Given the description of an element on the screen output the (x, y) to click on. 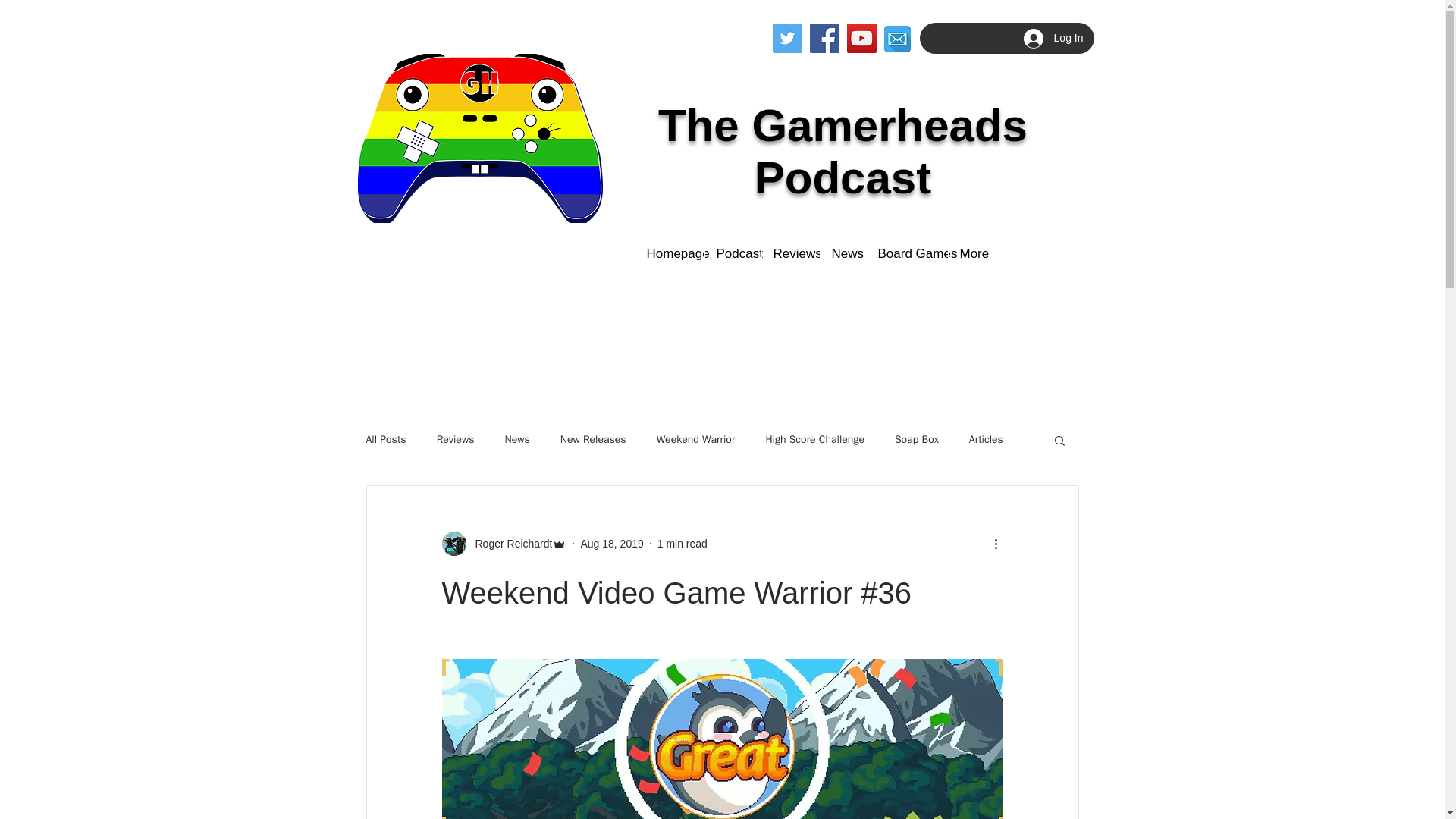
High Score Challenge (814, 439)
New Releases (593, 439)
News (516, 439)
The Gamerheads Podcast (842, 151)
Reviews (790, 253)
Roger Reichardt (508, 543)
Board Games (906, 253)
Reviews (455, 439)
Homepage (668, 253)
Log In (1053, 38)
